Given the description of an element on the screen output the (x, y) to click on. 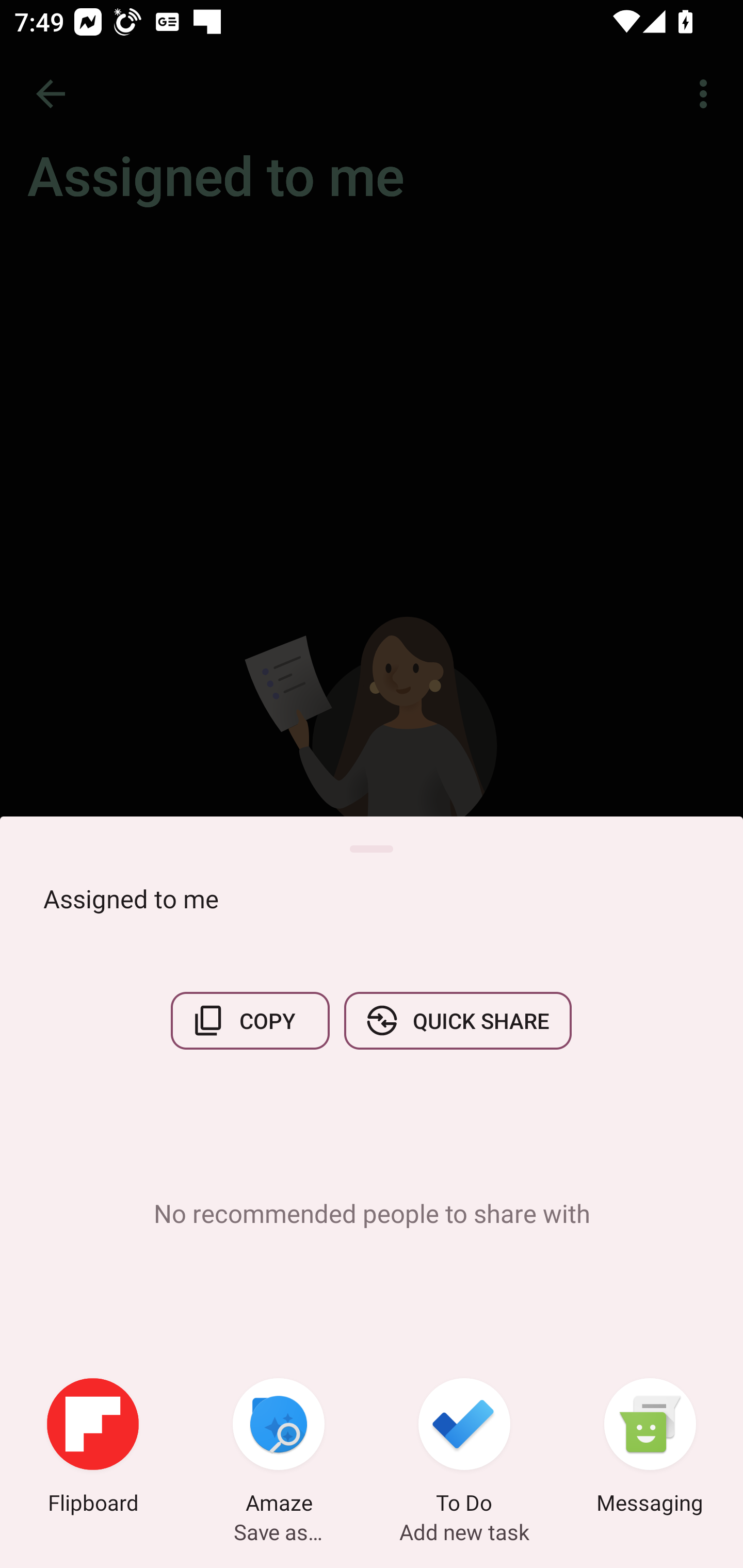
COPY (249, 1020)
QUICK SHARE (457, 1020)
Flipboard (92, 1448)
Amaze Save as… (278, 1448)
To Do Add new task (464, 1448)
Messaging (650, 1448)
